Given the description of an element on the screen output the (x, y) to click on. 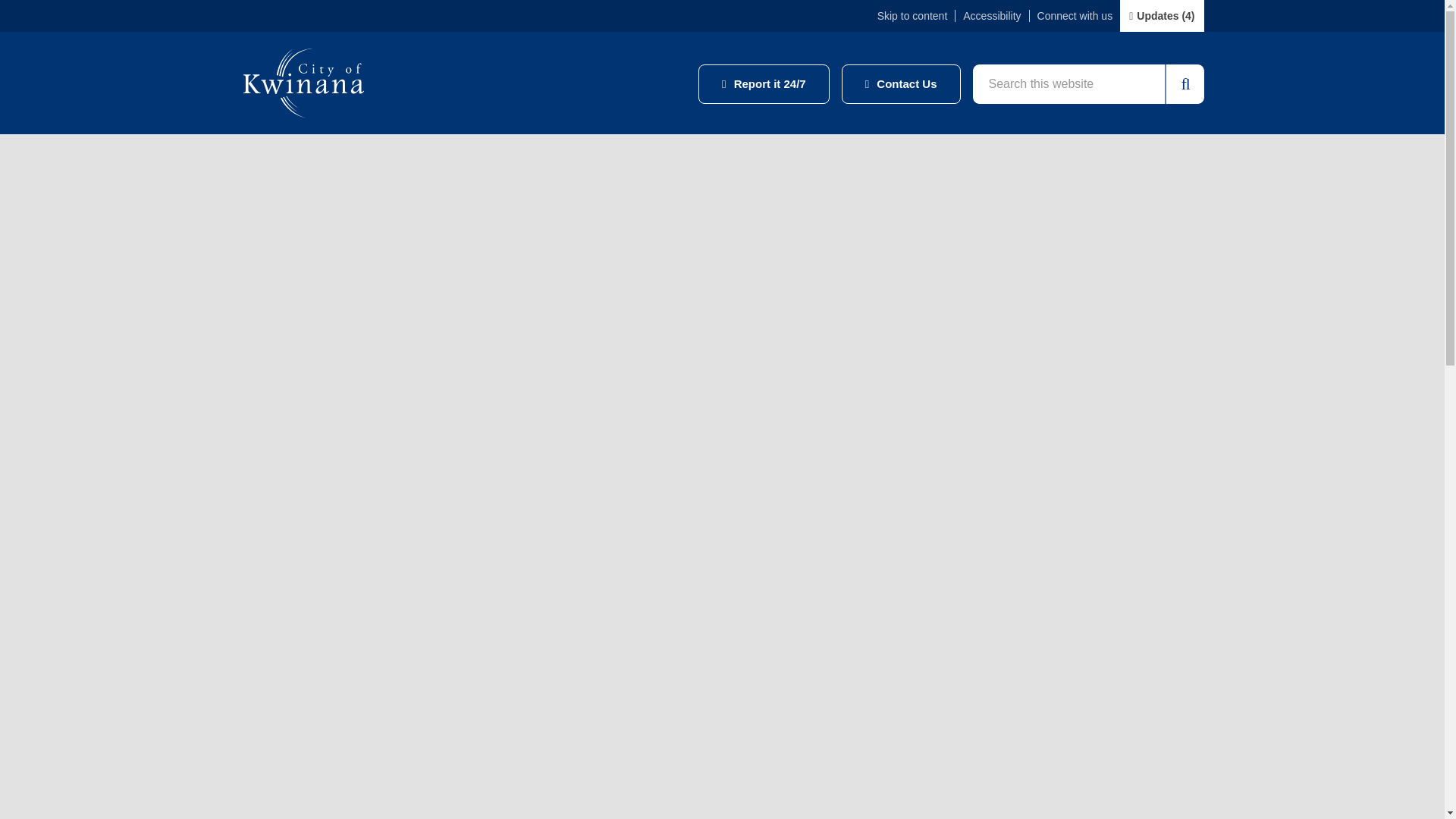
Accessibility (991, 15)
Property and Pets (306, 155)
Connect with us (1074, 15)
Contact Us (900, 84)
Skip to content (912, 15)
